Given the description of an element on the screen output the (x, y) to click on. 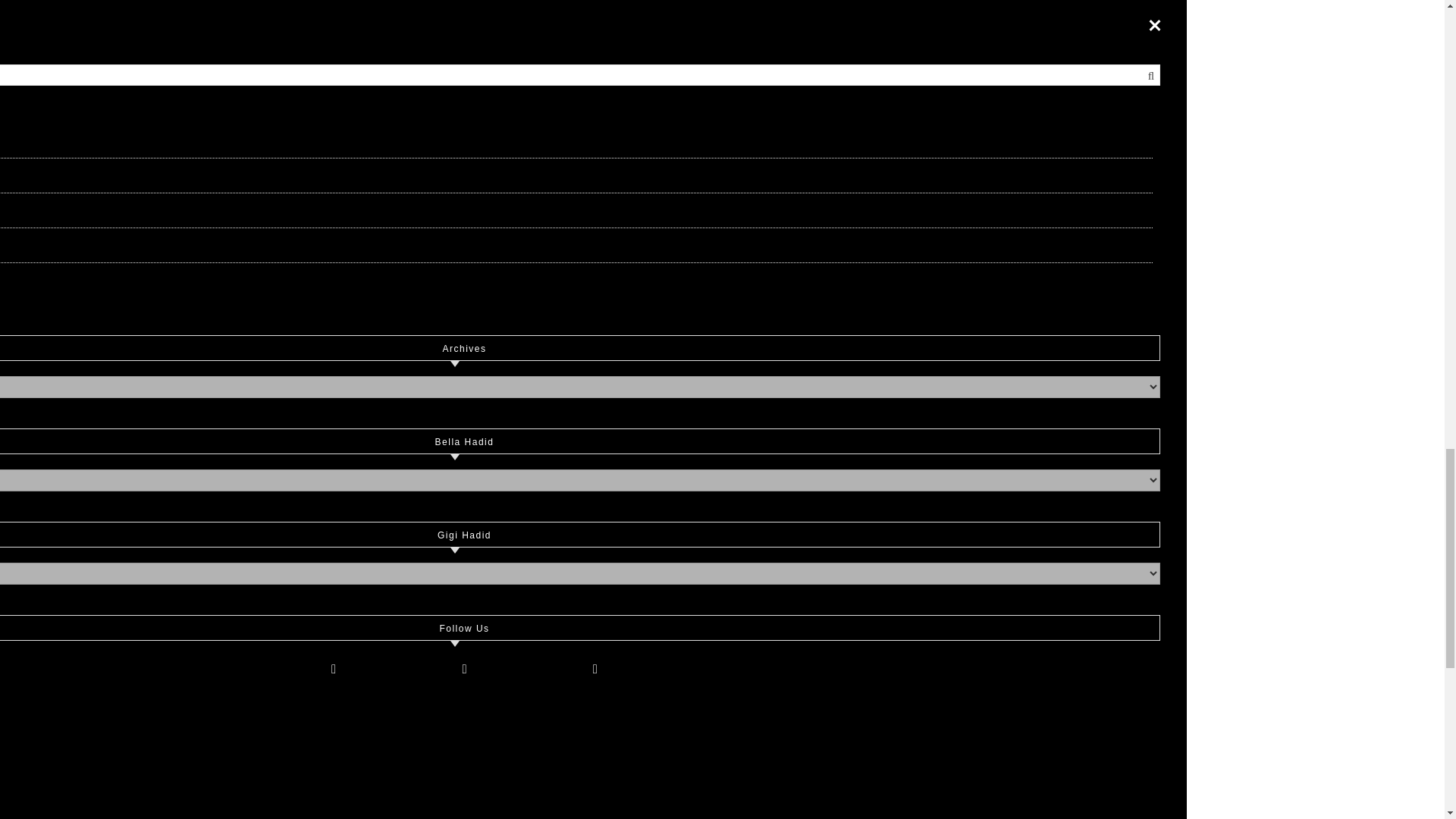
SHOP NOW (516, 184)
SOLD IN STORES ONLY (926, 184)
Instagram: Gigi Hadid Shows Off Her Loro Piana Mini Bag (718, 468)
Instagram: Bella Hadid Wears Kukhareva Top And Paige Jeans (991, 468)
No Comments (1099, 269)
